Given the description of an element on the screen output the (x, y) to click on. 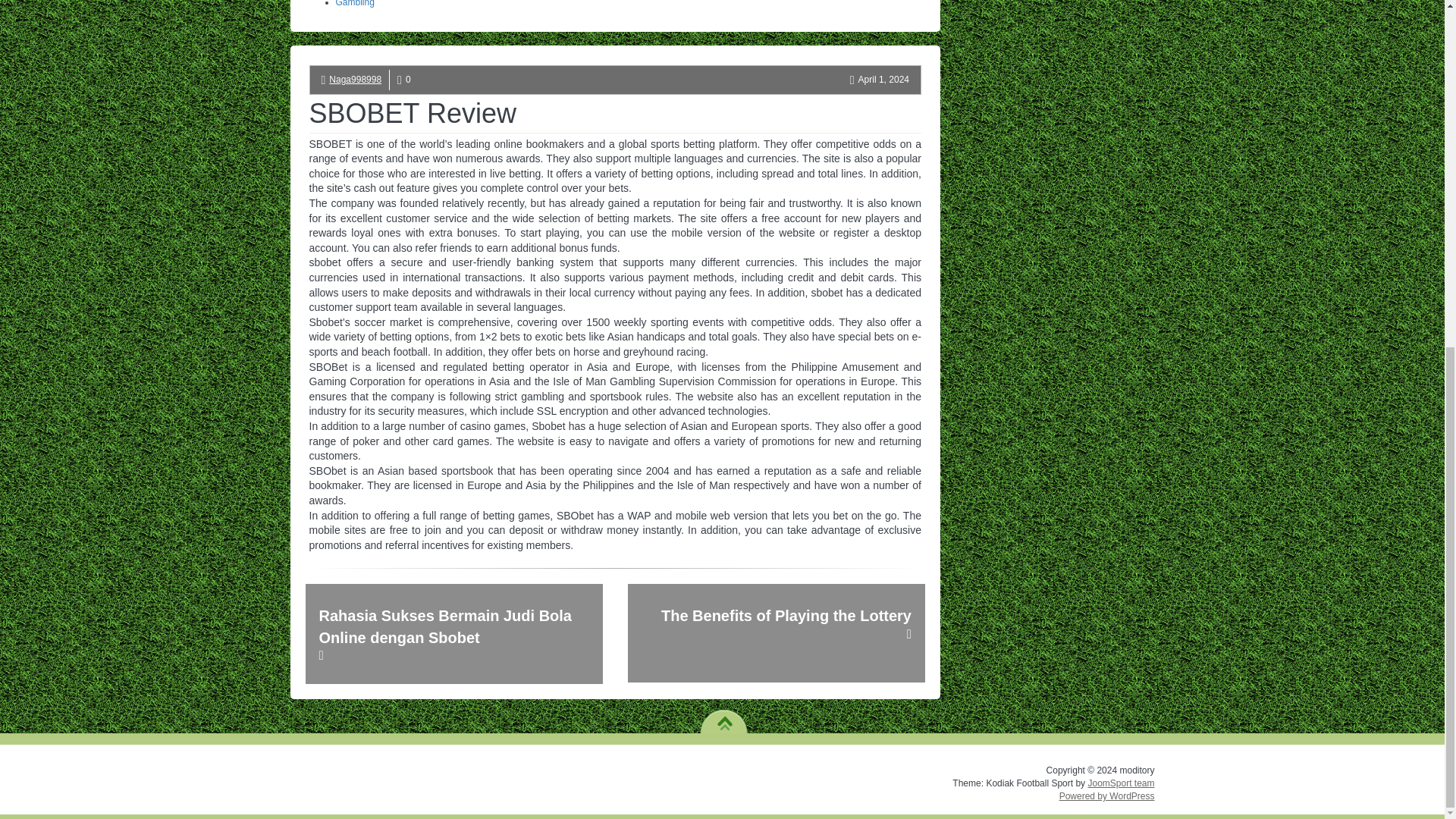
 The Best WordPress Sport Plugin for your league and club  (1120, 783)
JoomSport team (1120, 783)
The Benefits of Playing the Lottery (775, 632)
Rahasia Sukses Bermain Judi Bola Online dengan Sbobet (453, 633)
Naga998998 (355, 79)
Gambling (354, 3)
